Given the description of an element on the screen output the (x, y) to click on. 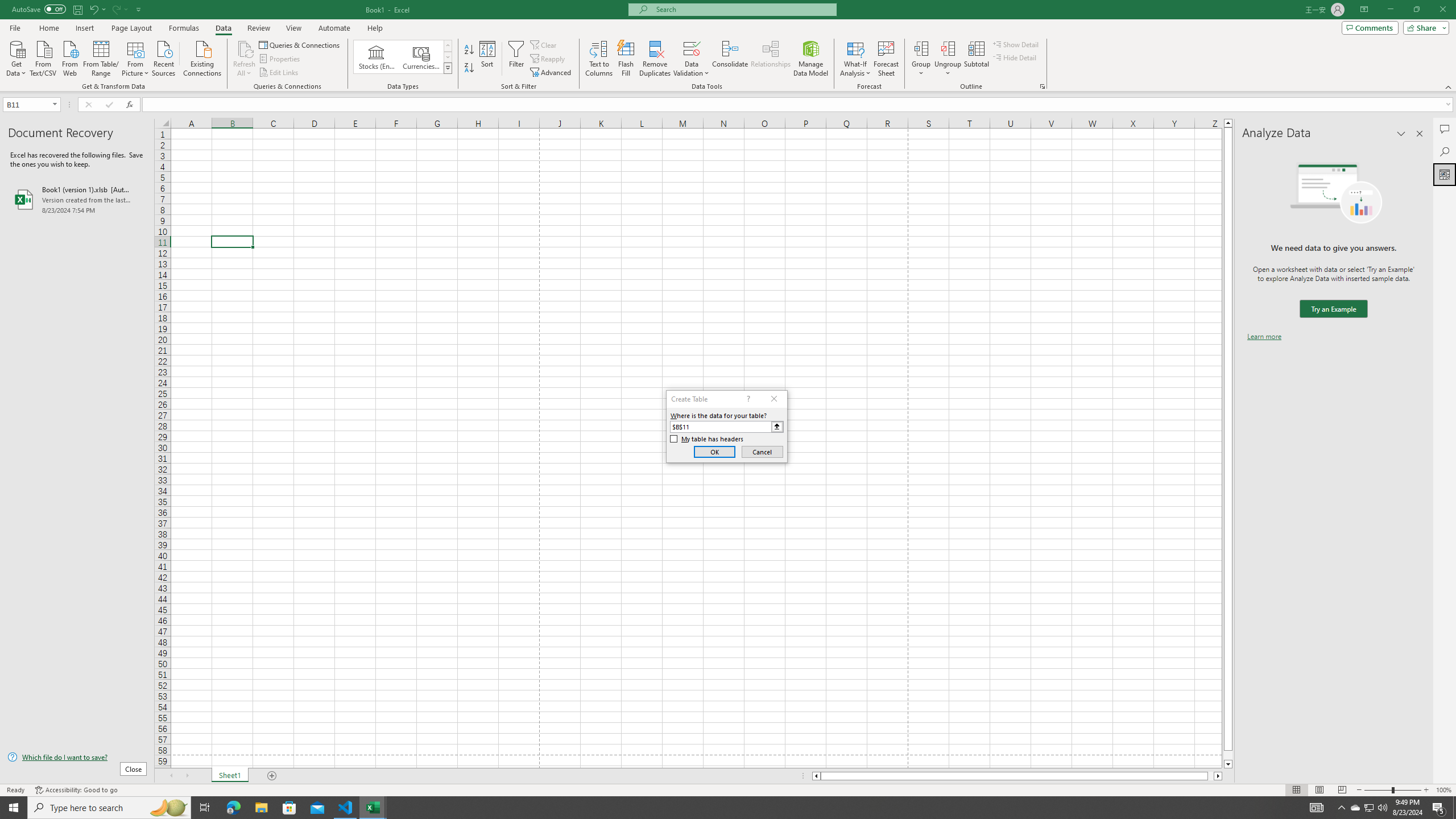
Clear (544, 44)
Search (1444, 151)
Flash Fill (625, 58)
Row up (448, 45)
Reapply (548, 58)
Queries & Connections (300, 44)
